Given the description of an element on the screen output the (x, y) to click on. 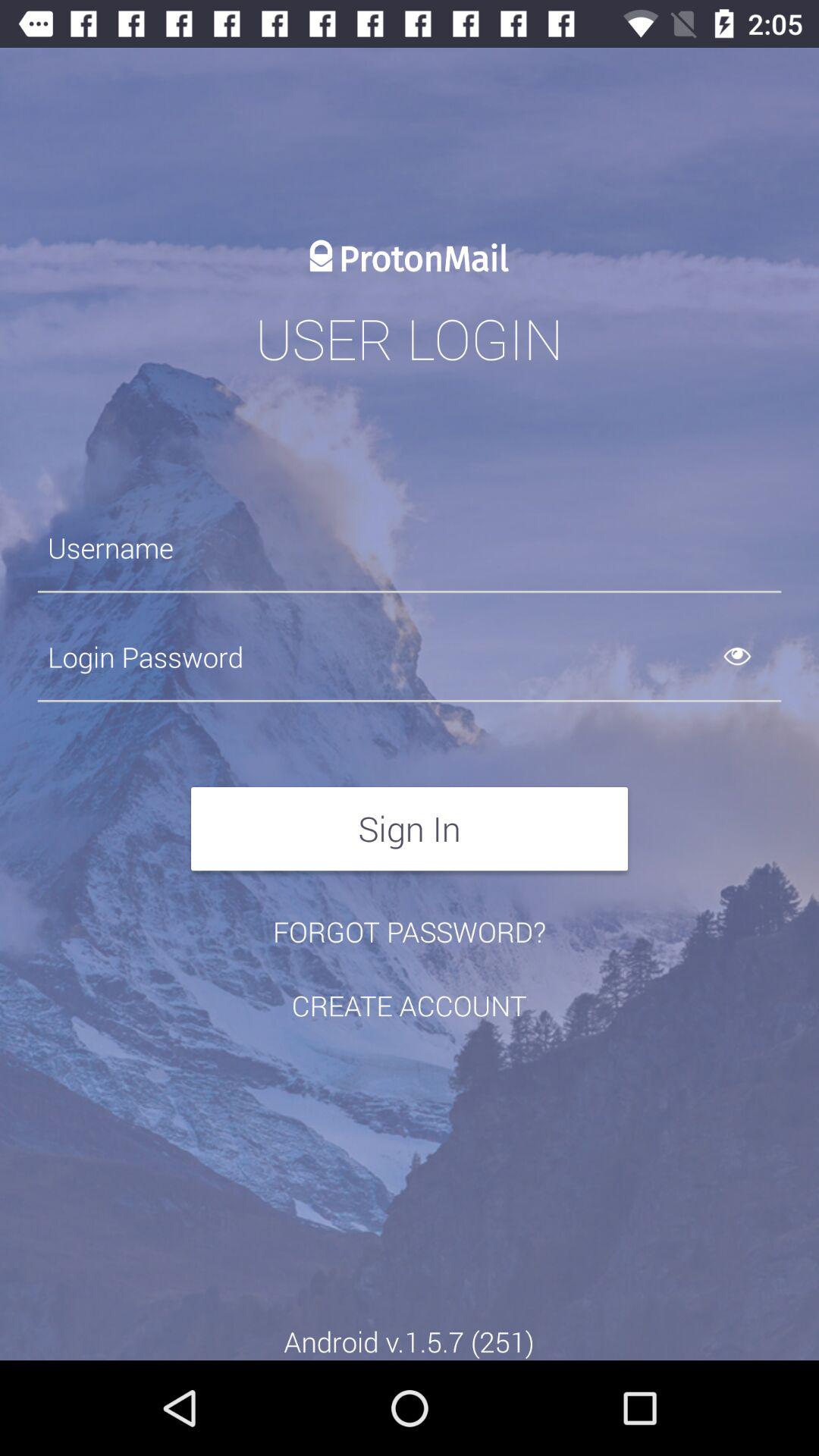
see typed password (755, 656)
